Given the description of an element on the screen output the (x, y) to click on. 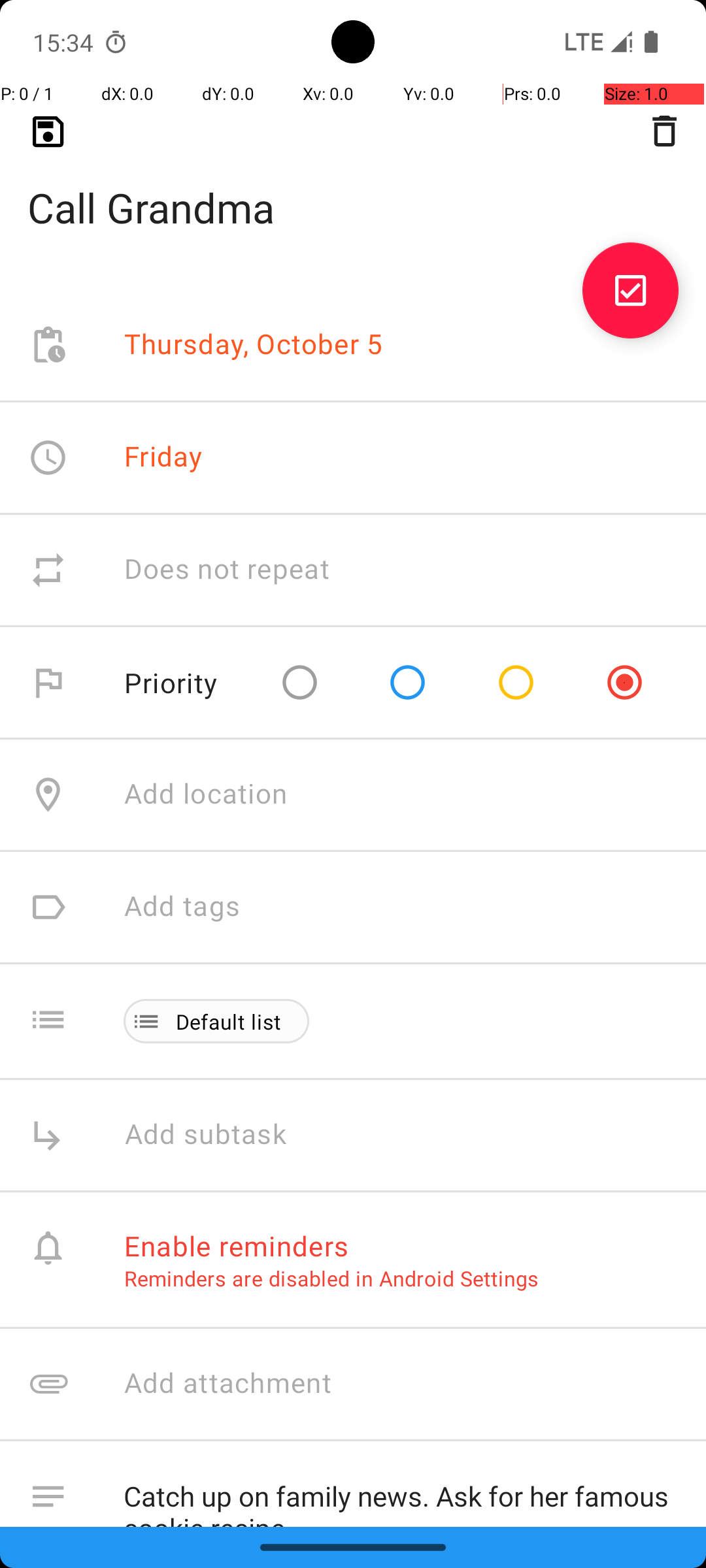
Catch up on family news. Ask for her famous cookie recipe. Element type: android.widget.EditText (400, 1493)
Thursday, October 5 Element type: android.widget.TextView (253, 344)
